Given the description of an element on the screen output the (x, y) to click on. 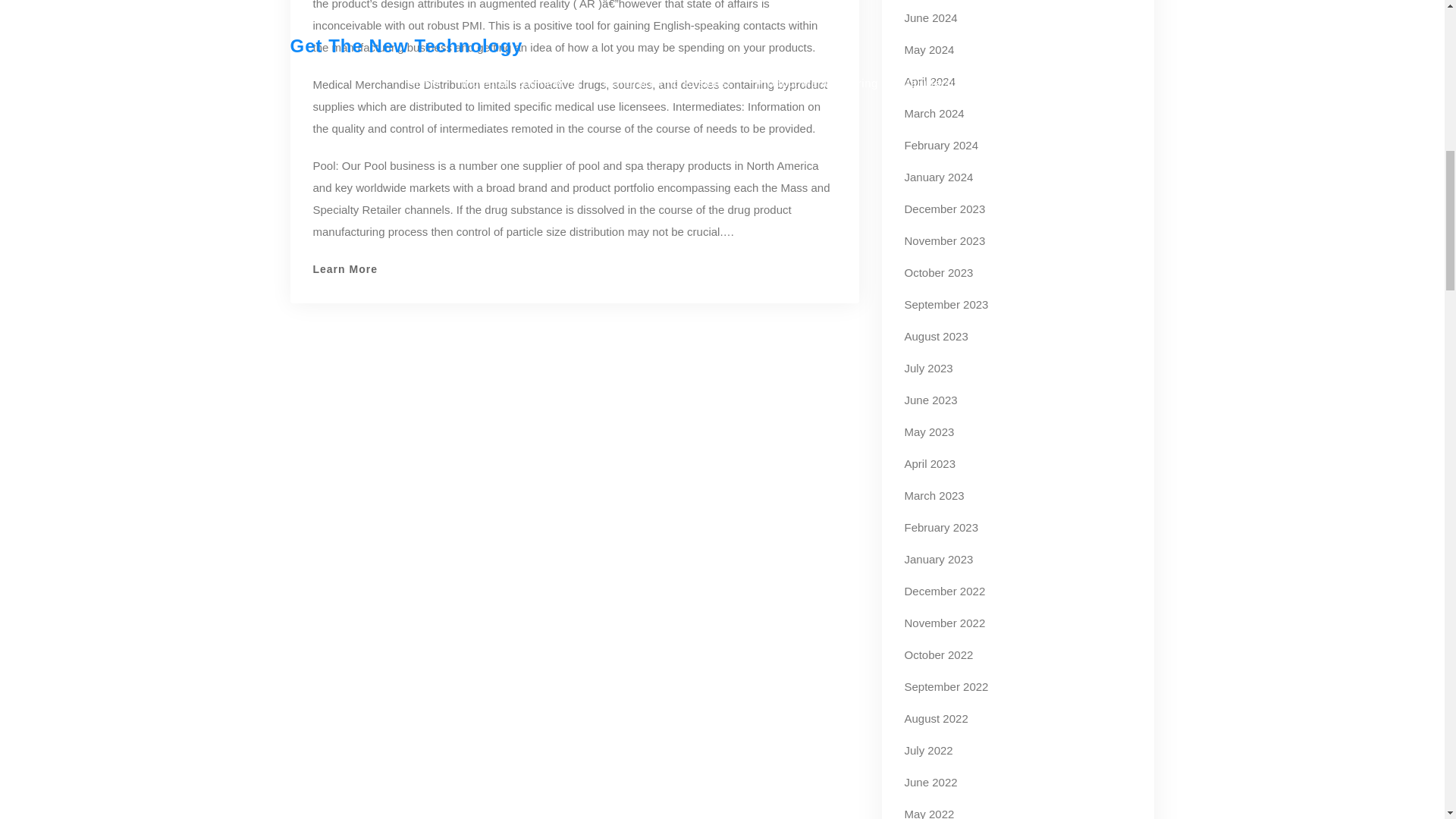
June 2024 (930, 17)
September 2023 (946, 304)
Learn More (347, 268)
March 2024 (933, 113)
June 2023 (930, 399)
May 2023 (928, 431)
April 2023 (929, 463)
April 2024 (929, 81)
February 2024 (941, 144)
August 2023 (936, 336)
